Given the description of an element on the screen output the (x, y) to click on. 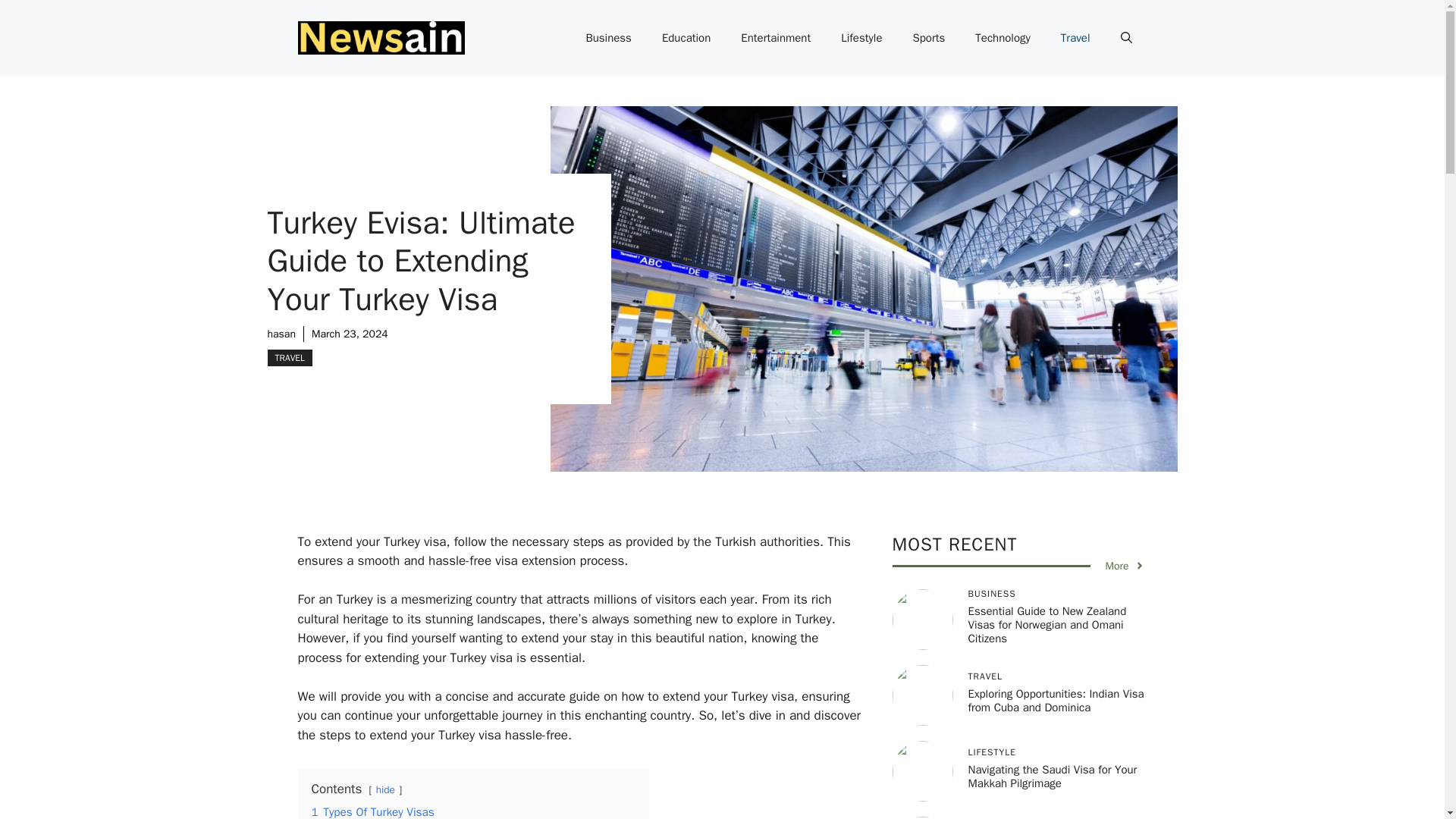
More (1124, 565)
Sports (927, 37)
1 Types Of Turkey Visas (372, 811)
Entertainment (775, 37)
Lifestyle (860, 37)
TRAVEL (289, 357)
Business (608, 37)
Exploring Opportunities: Indian Visa from Cuba and Dominica (1055, 700)
hasan (280, 333)
